Given the description of an element on the screen output the (x, y) to click on. 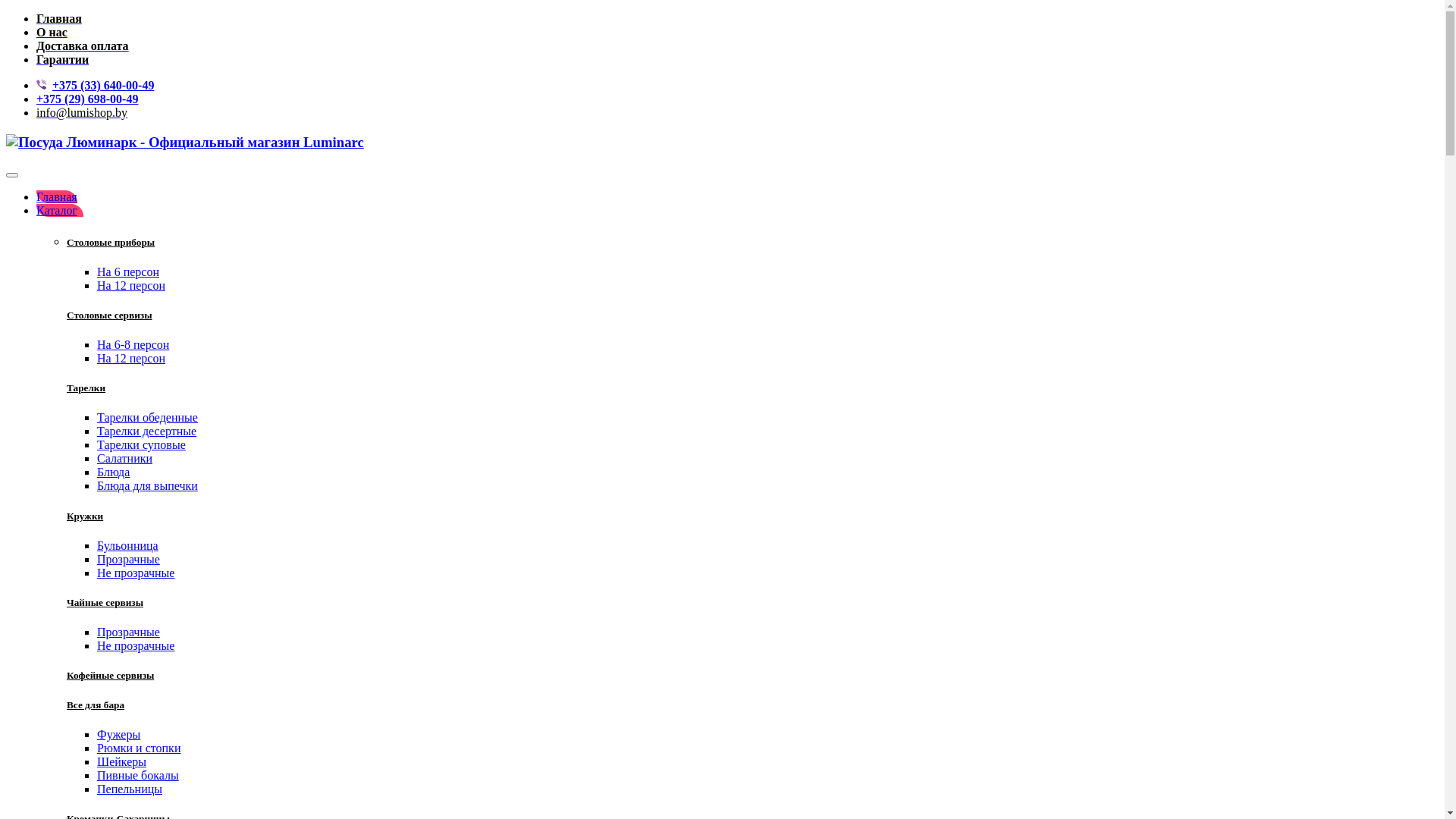
+375 (33) 640-00-49 Element type: text (102, 84)
info@lumishop.by Element type: text (81, 112)
+375 (29) 698-00-49 Element type: text (87, 98)
